Given the description of an element on the screen output the (x, y) to click on. 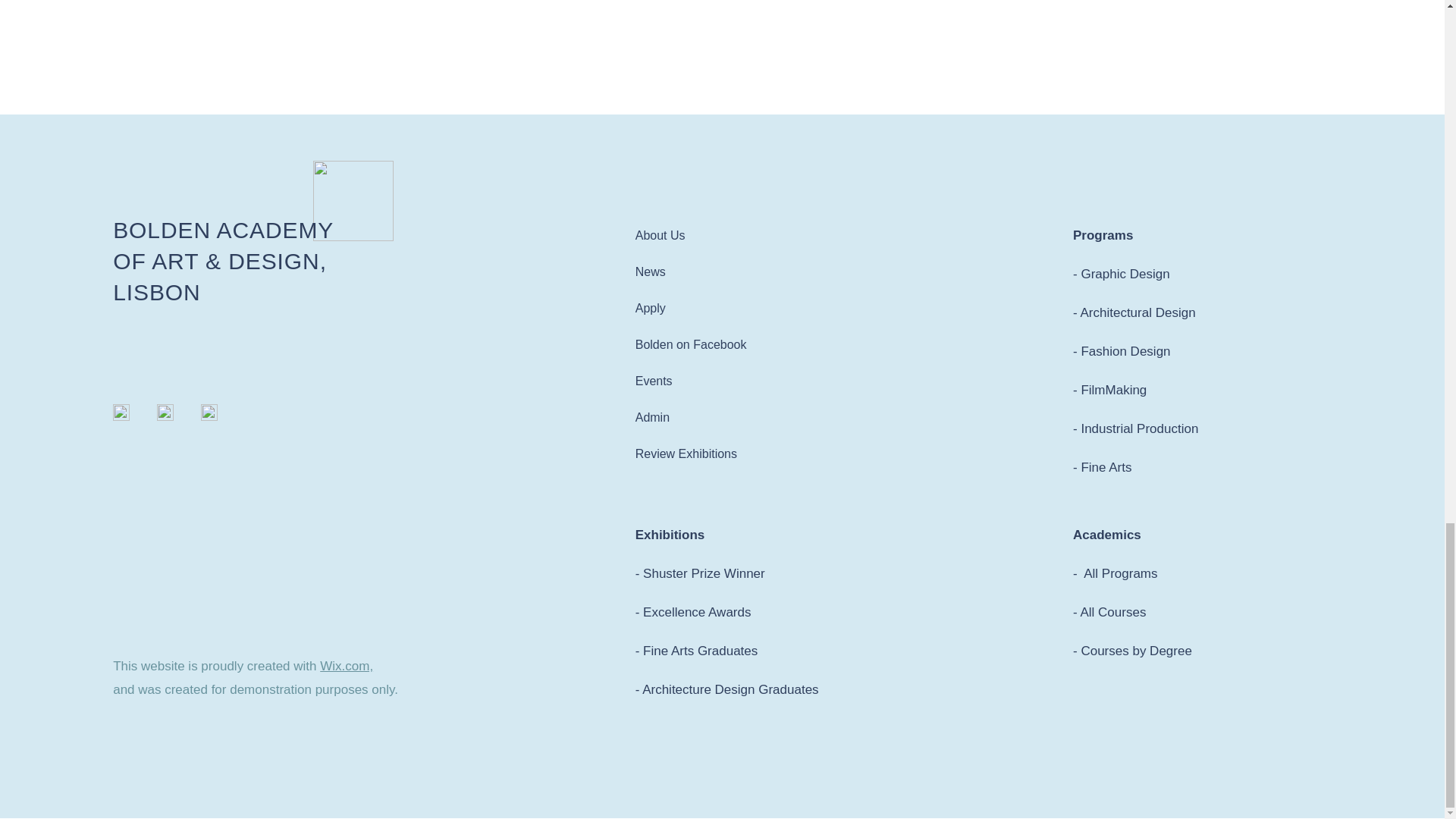
- Industrial Production (1135, 428)
- Courses by Degree (1132, 650)
News (649, 271)
- Architecture Design Graduates (726, 689)
- Excellence Awards (692, 612)
- Fine Arts (1102, 467)
- Graphic Design (1121, 273)
Bolden on Facebook (690, 344)
- Fine Arts Graduates (696, 650)
Review Exhibitions (685, 453)
Events (653, 380)
Admin (651, 417)
About Us (659, 235)
-  All Programs (1115, 573)
- Shuster Prize Winner (699, 573)
